Given the description of an element on the screen output the (x, y) to click on. 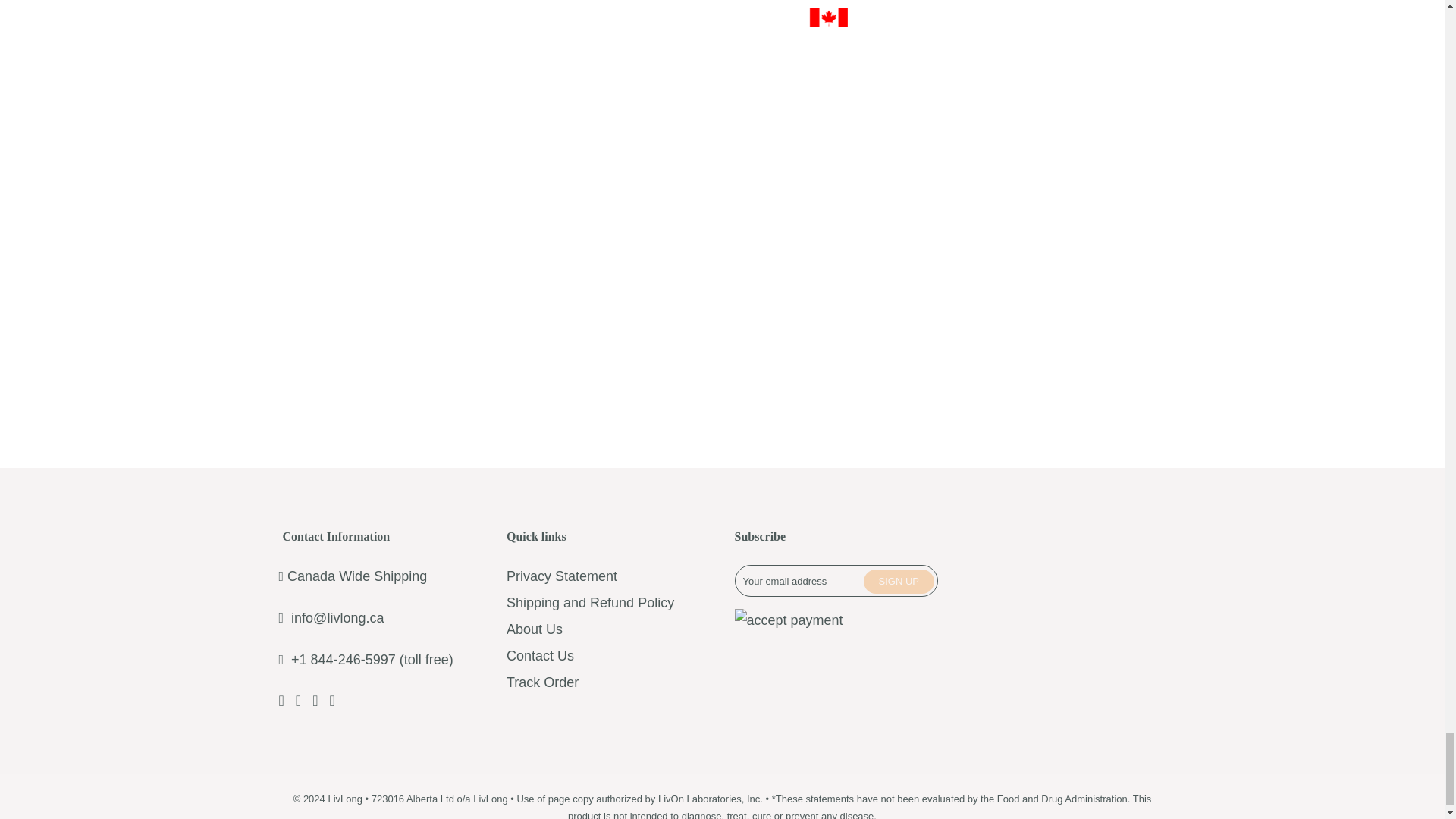
Sign up (898, 581)
